Given the description of an element on the screen output the (x, y) to click on. 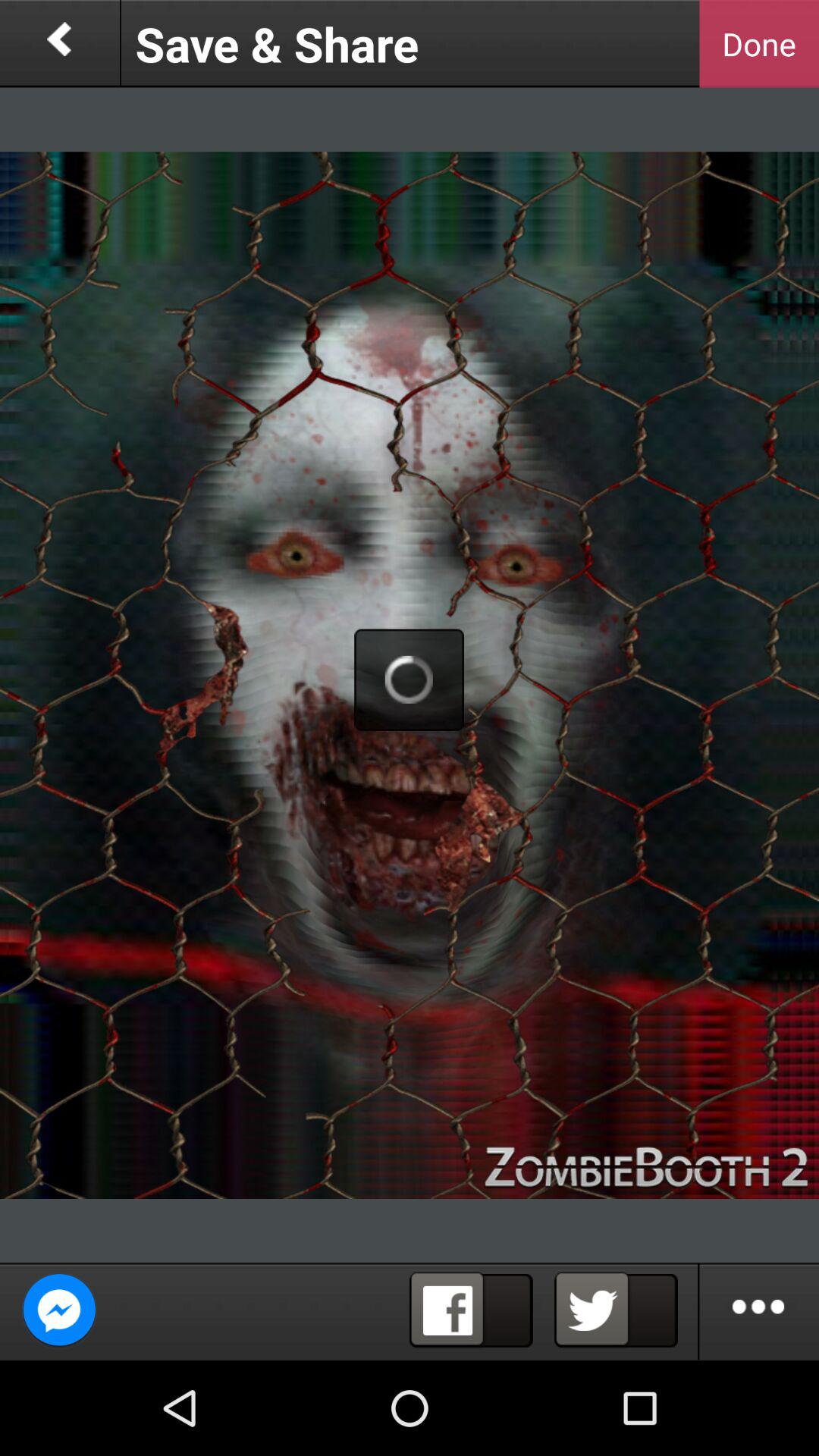
back page (59, 43)
